Given the description of an element on the screen output the (x, y) to click on. 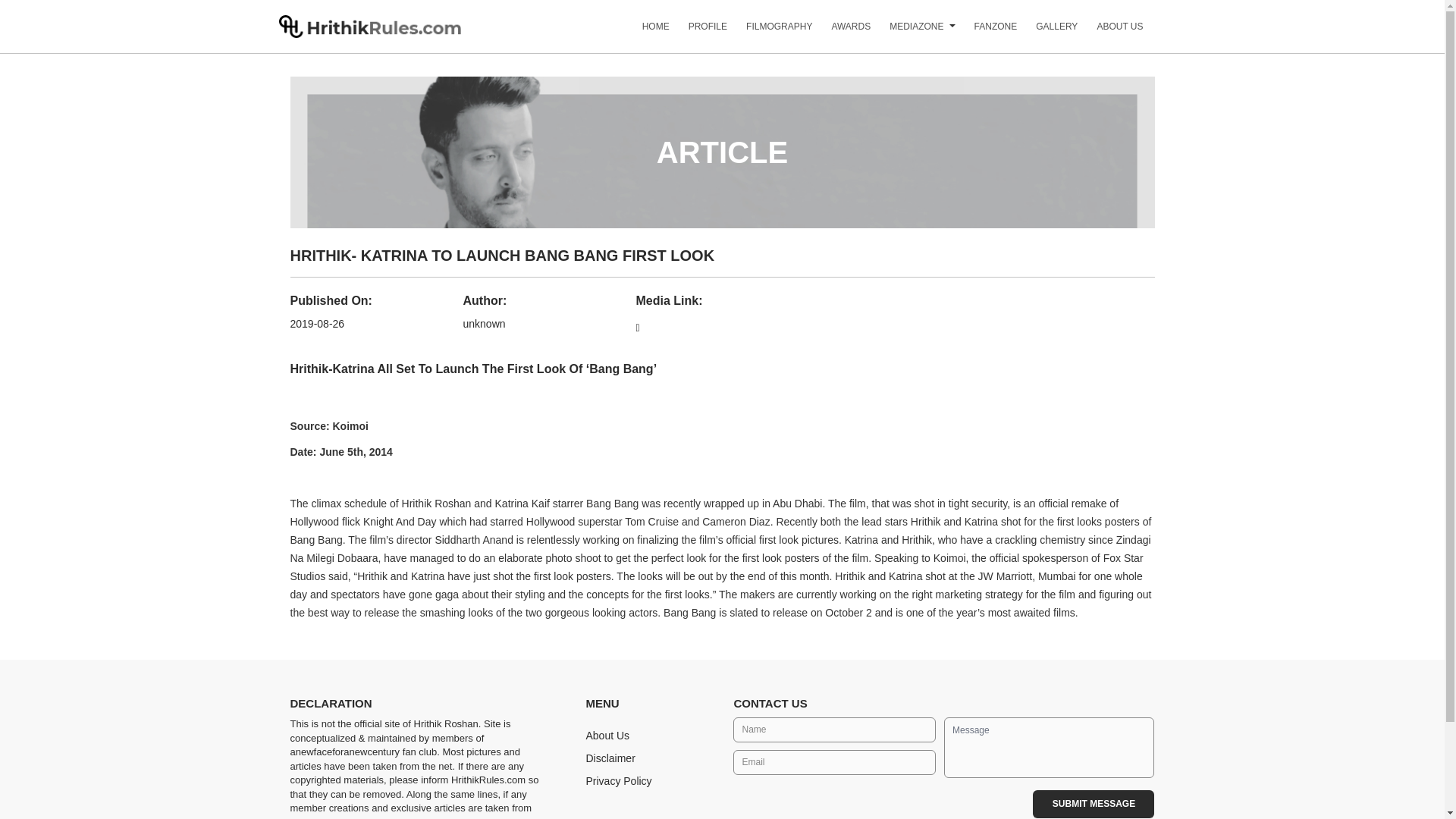
FANZONE (986, 31)
SUBMIT MESSAGE (1093, 804)
HOME (646, 31)
Disclaimer (609, 758)
Privacy Policy (617, 780)
ABOUT US (1109, 31)
FILMOGRAPHY (769, 31)
AWARDS (841, 31)
PROFILE (697, 31)
About Us (606, 735)
MEDIAZONE (906, 31)
GALLERY (1046, 31)
